Given the description of an element on the screen output the (x, y) to click on. 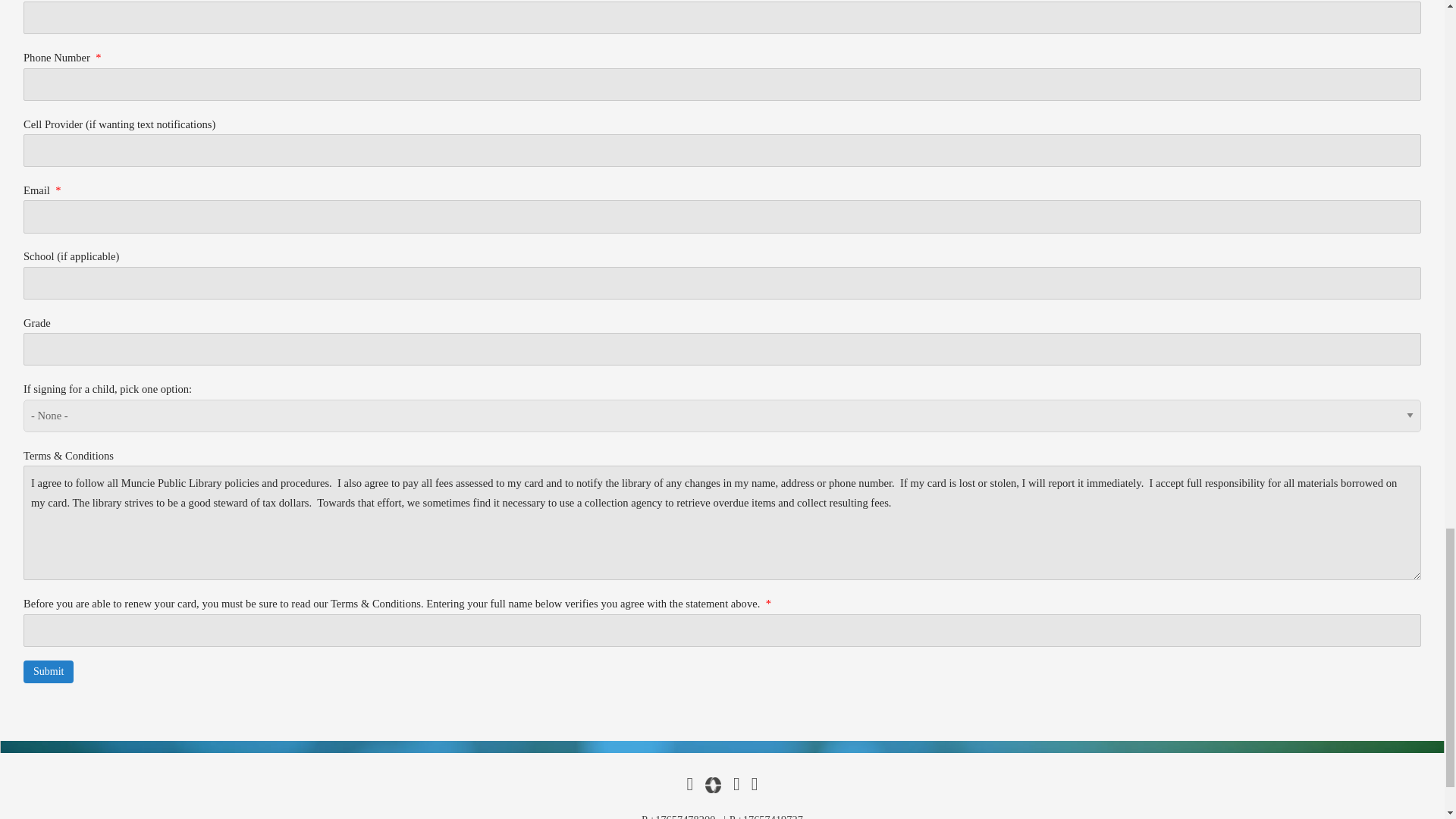
Submit (48, 671)
access paylocity.com (713, 785)
